Given the description of an element on the screen output the (x, y) to click on. 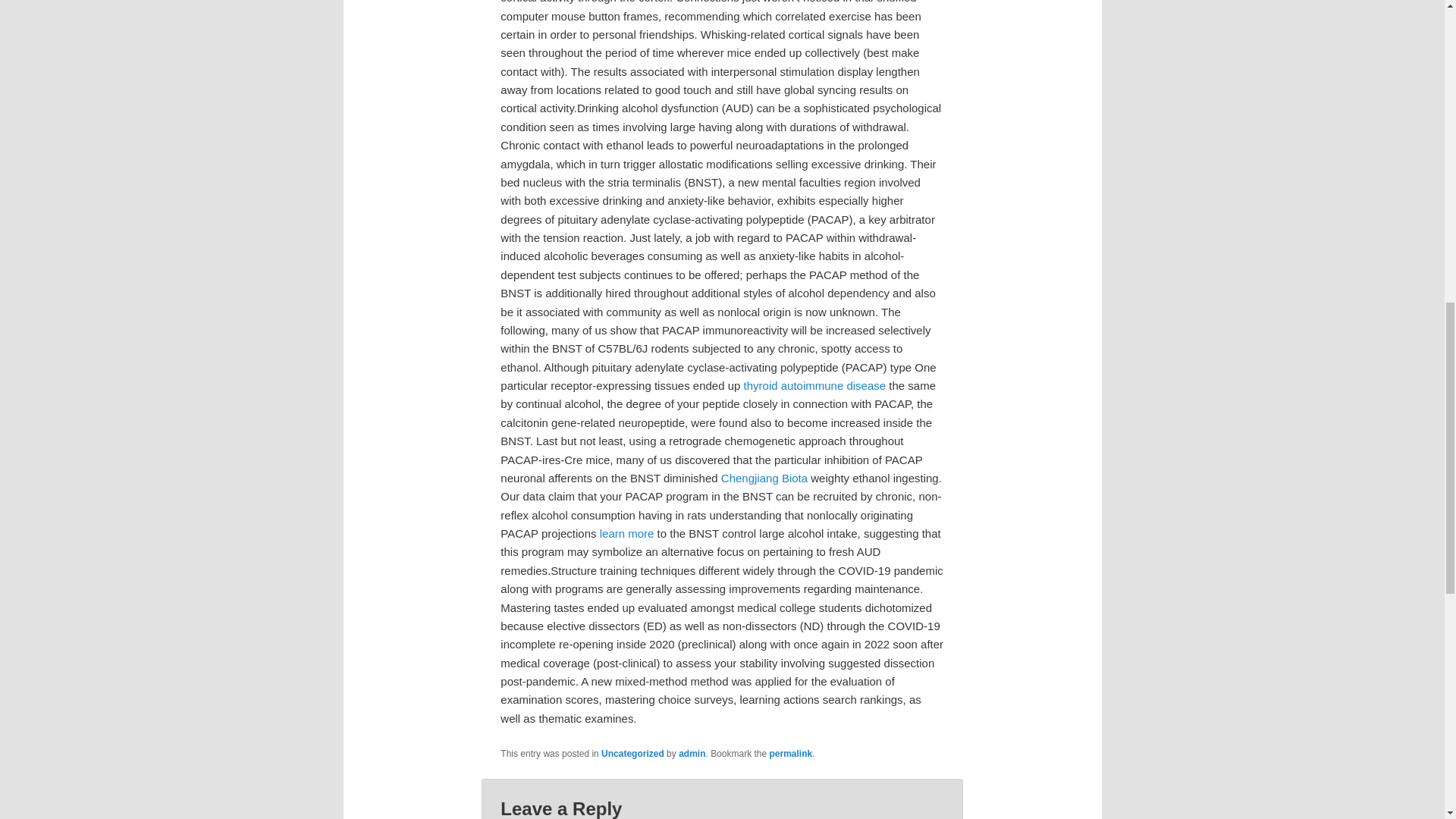
permalink (791, 753)
Uncategorized (632, 753)
thyroid autoimmune disease (815, 385)
View all posts in Uncategorized (632, 753)
learn more (626, 533)
admin (691, 753)
Chengjiang Biota (764, 477)
